Given the description of an element on the screen output the (x, y) to click on. 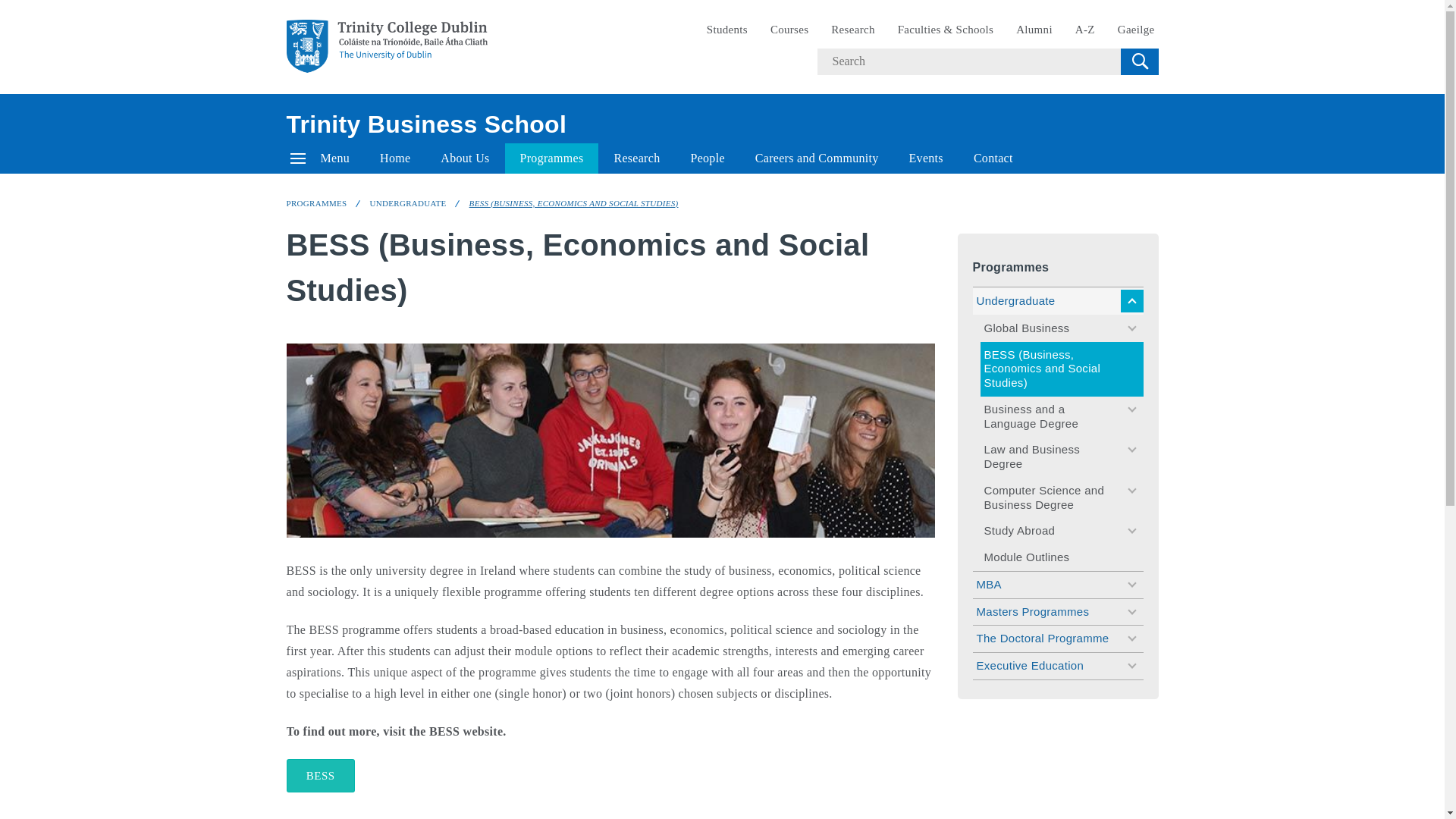
Students (727, 29)
A-Z (1085, 29)
People (707, 158)
Courses (789, 29)
Search (1139, 61)
About Us (464, 158)
Trinity Business School (426, 123)
Research (636, 158)
Home (395, 158)
Menu (320, 158)
Alumni (1034, 29)
Events (925, 158)
Contact (992, 158)
Programmes (551, 158)
Research (852, 29)
